Given the description of an element on the screen output the (x, y) to click on. 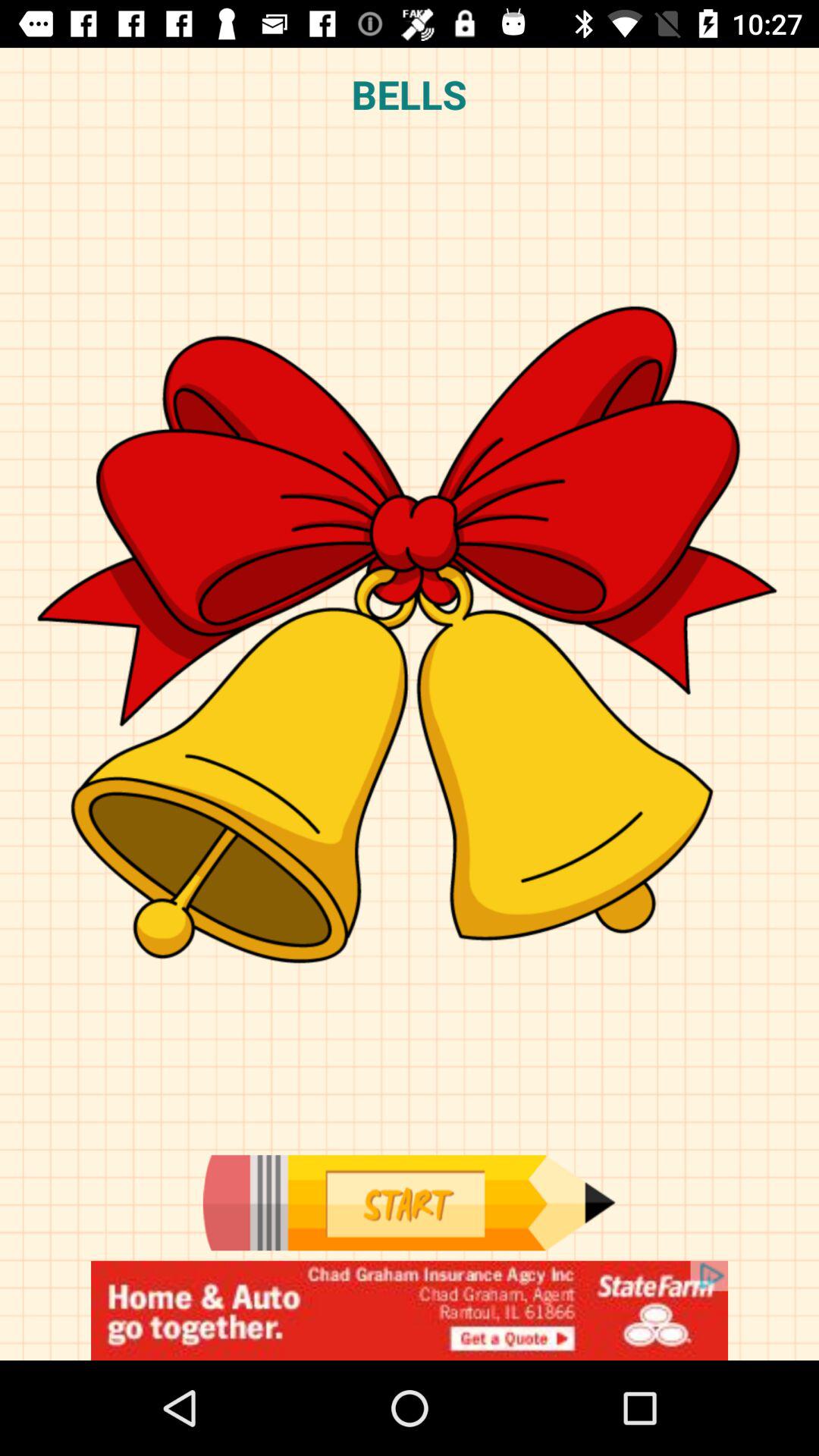
click the start button (409, 1202)
